Given the description of an element on the screen output the (x, y) to click on. 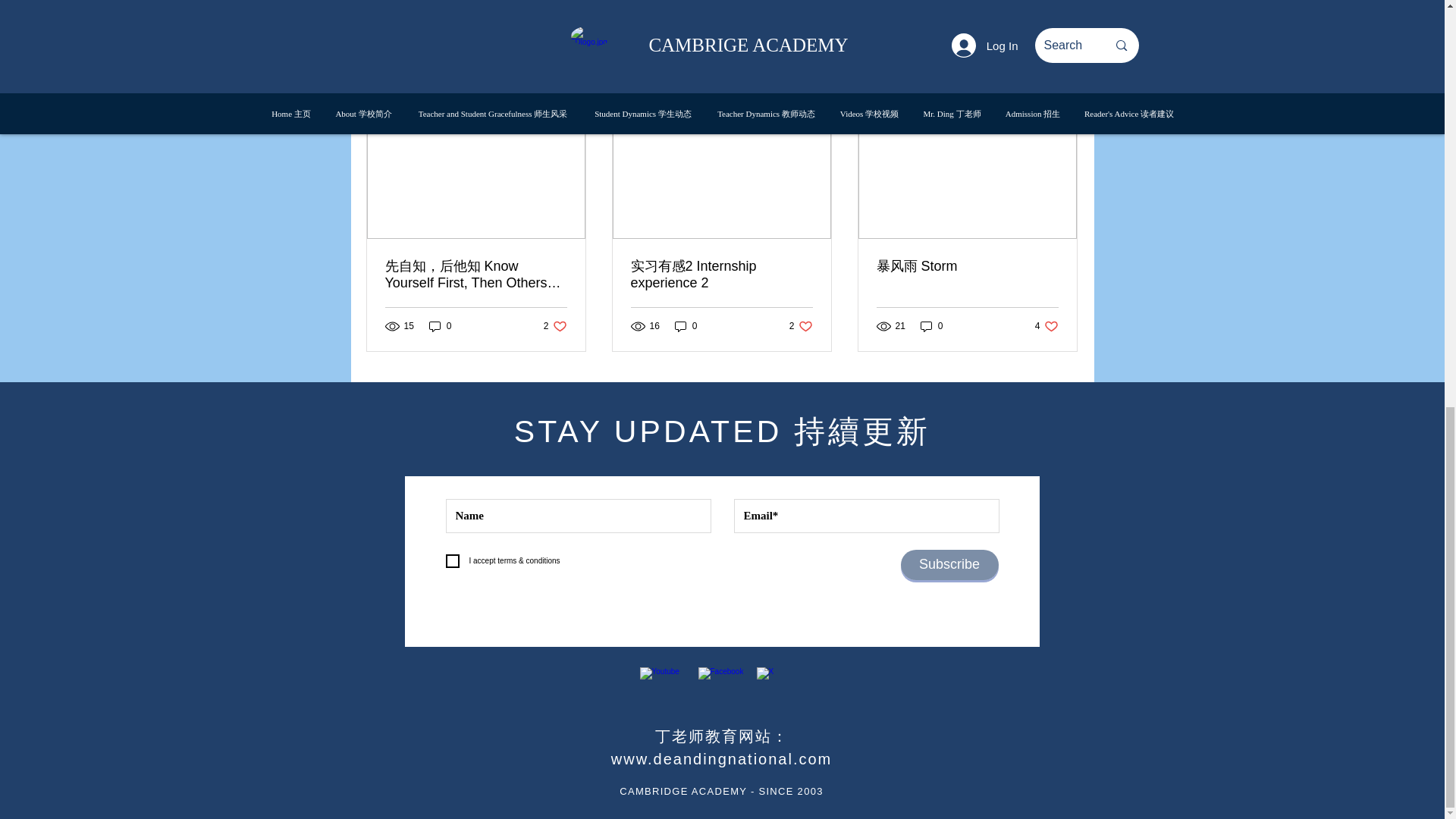
0 (440, 325)
See All (990, 6)
